Given the description of an element on the screen output the (x, y) to click on. 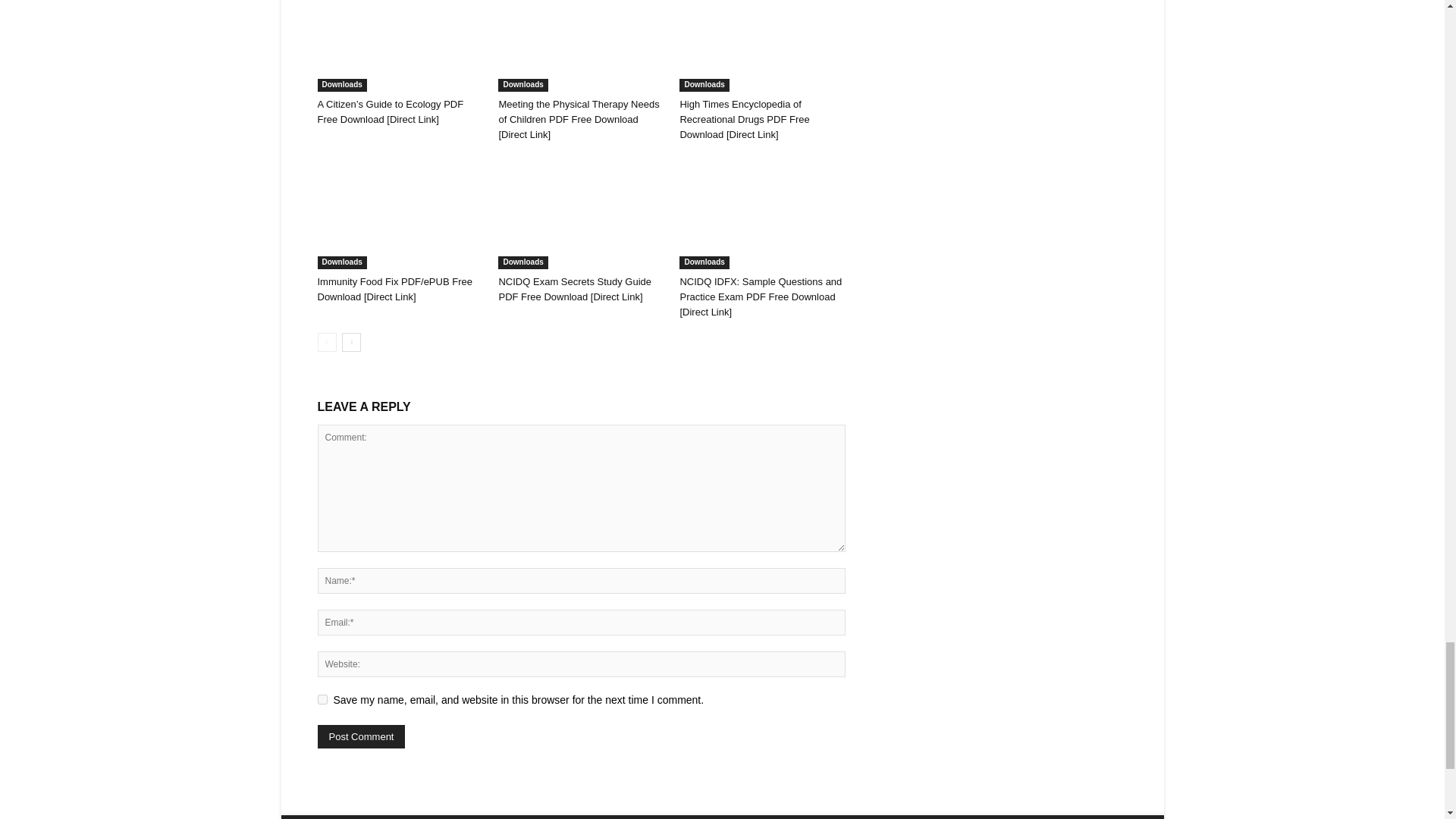
Post Comment (360, 736)
yes (321, 699)
